Given the description of an element on the screen output the (x, y) to click on. 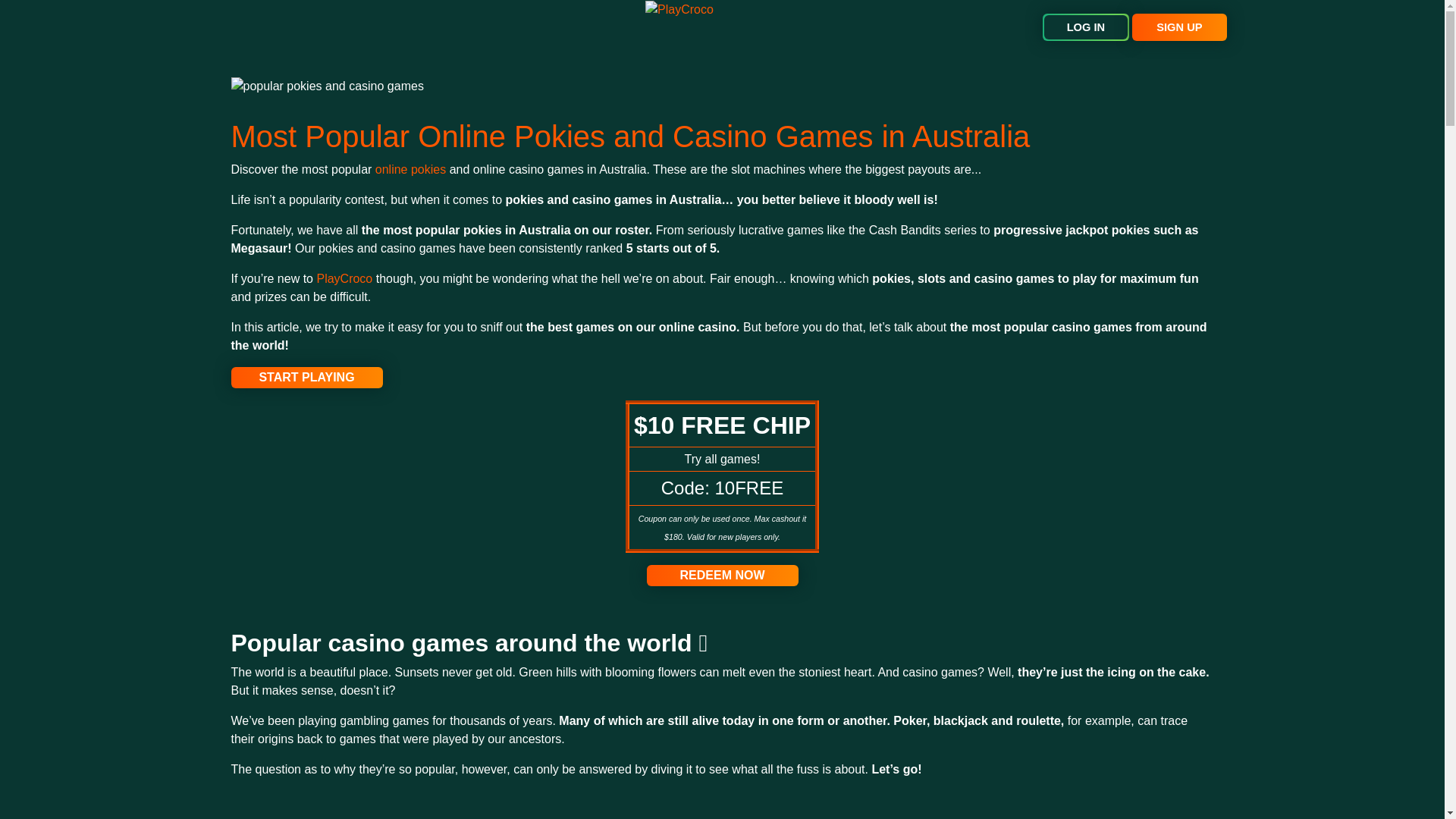
online pokies (410, 169)
REDEEM NOW (721, 575)
popular pokies and casino games (326, 85)
PlayCroco (345, 278)
Most Popular Online Pokies and Casino Games in Australia (629, 136)
playcroco online casino pokies and slots (721, 575)
playcroco signup (305, 377)
playcroco (345, 278)
LOG IN (1085, 26)
SIGN UP (1178, 26)
START PLAYING (305, 377)
PlayCroco (679, 9)
online pokies (410, 169)
